Given the description of an element on the screen output the (x, y) to click on. 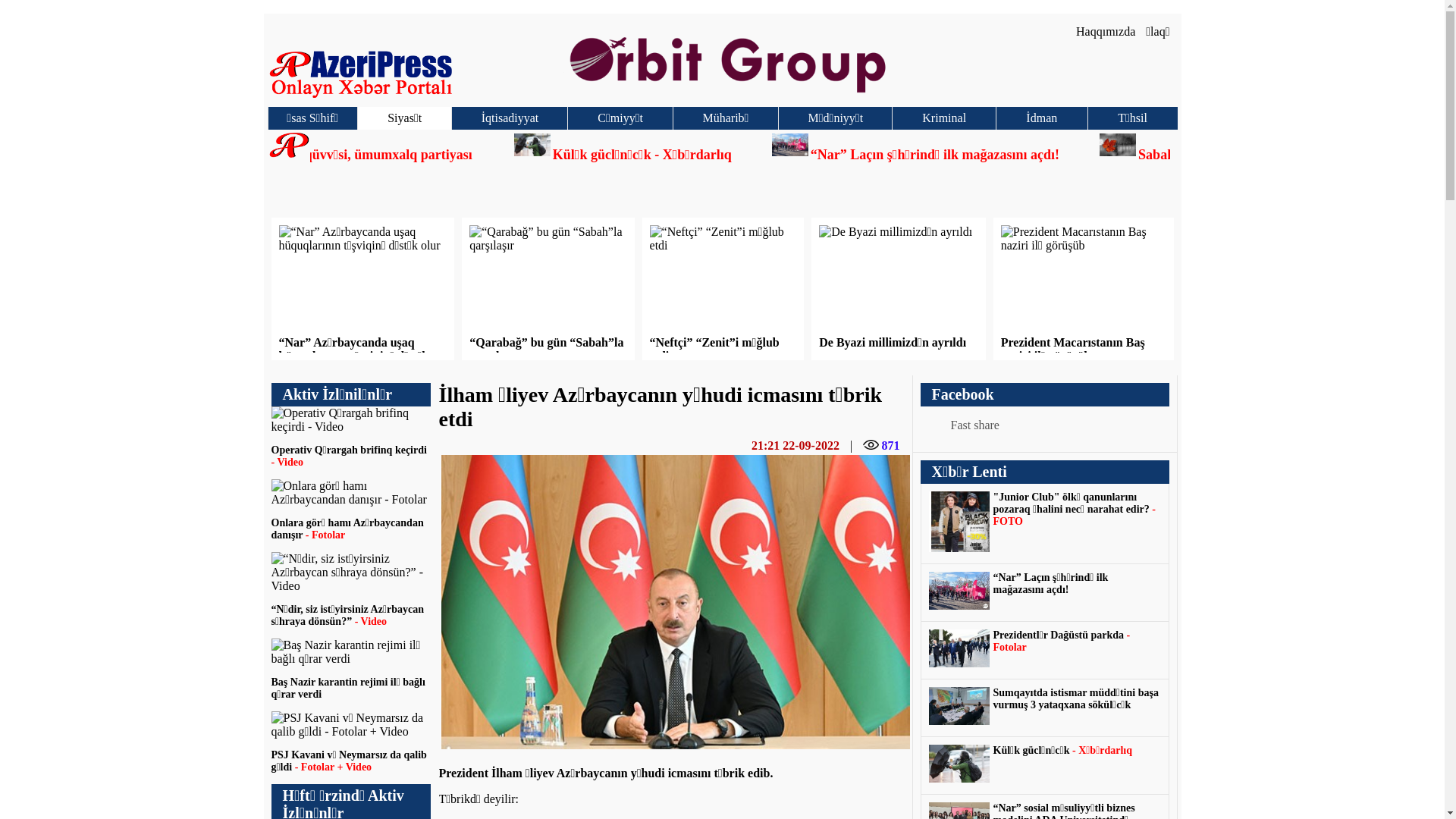
Kriminal Element type: text (943, 117)
Fast share Element type: text (1044, 425)
